Given the description of an element on the screen output the (x, y) to click on. 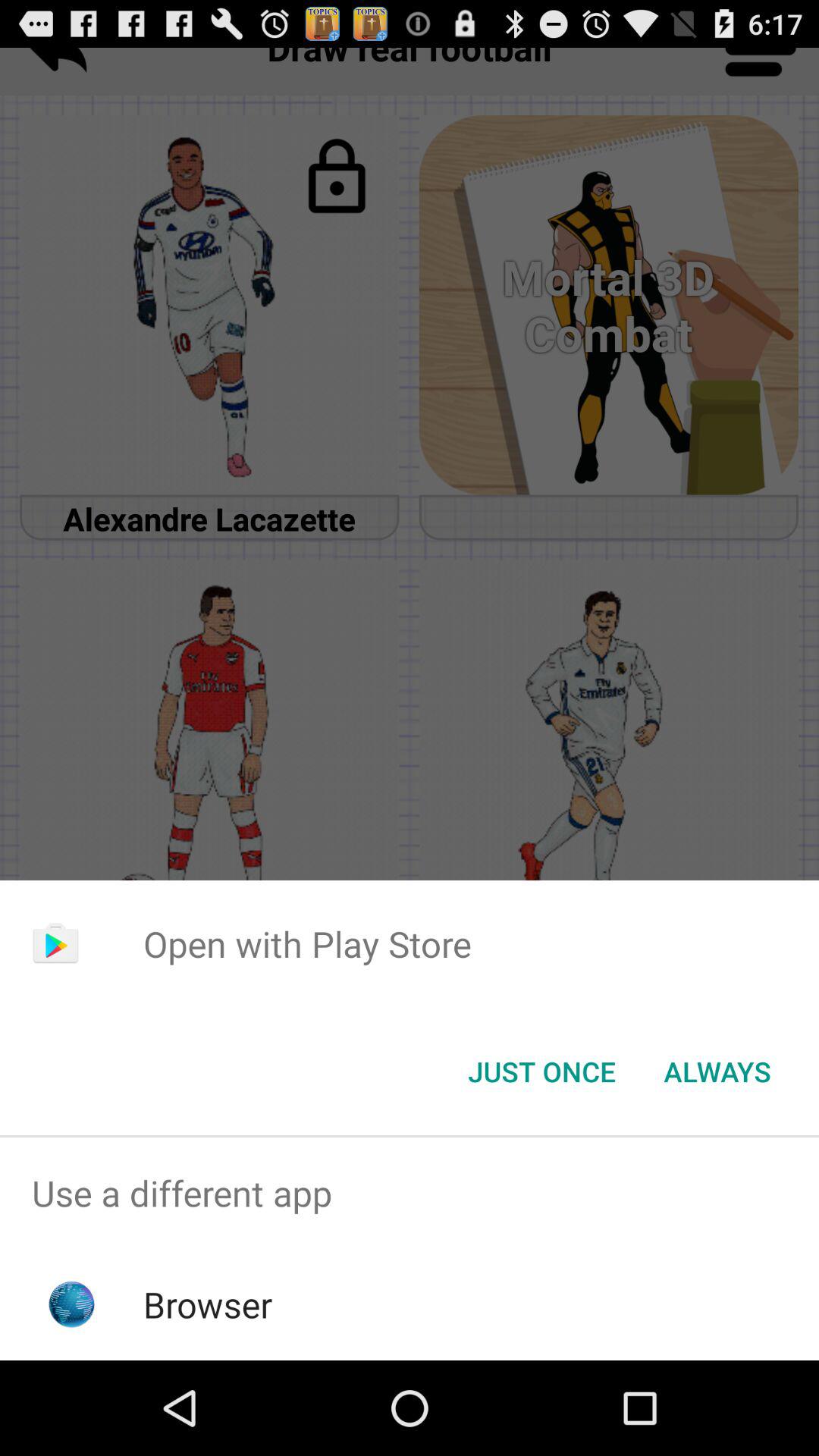
press the icon next to the always button (541, 1071)
